Given the description of an element on the screen output the (x, y) to click on. 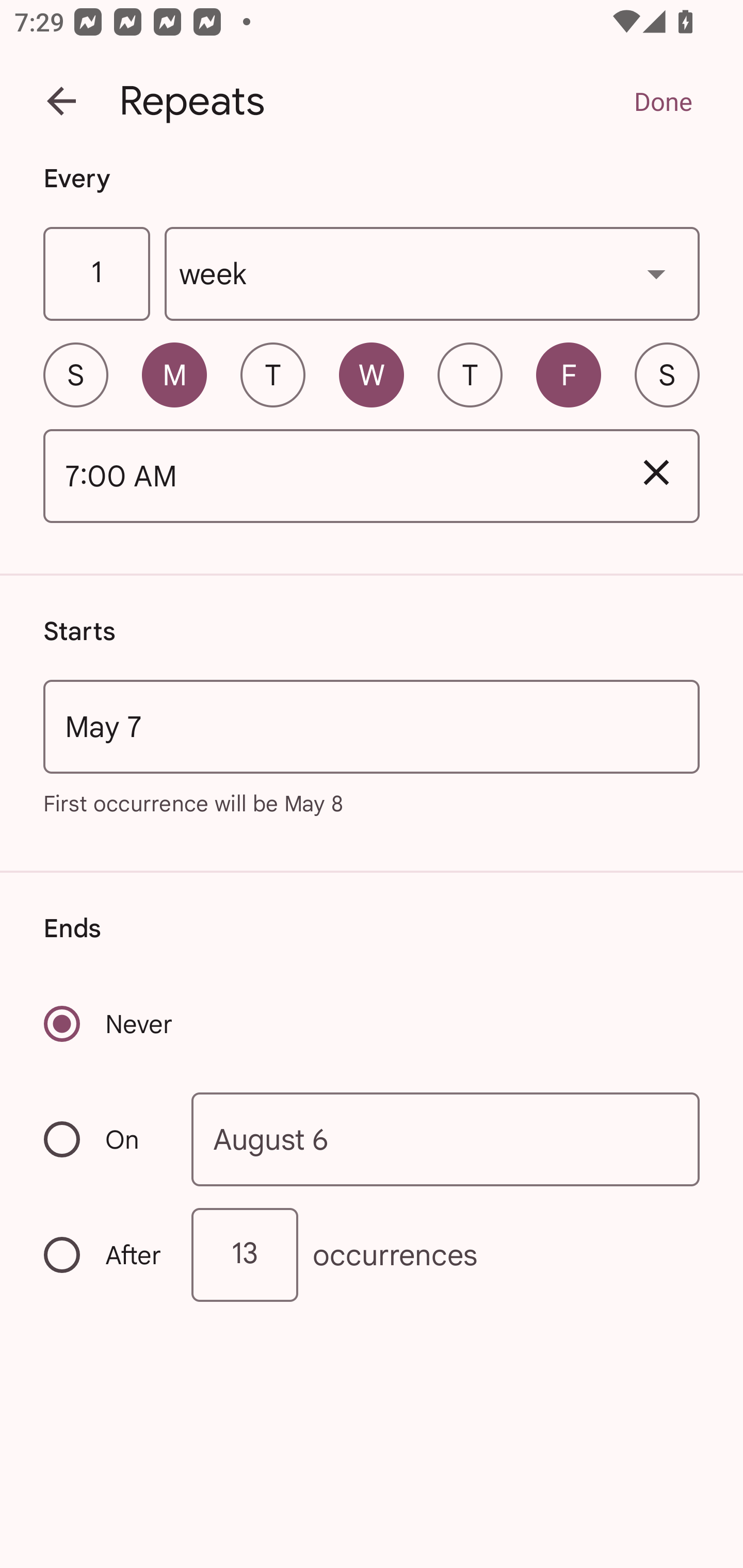
Back (61, 101)
Done (663, 101)
1 (96, 274)
week (431, 274)
Show dropdown menu (655, 273)
S Sunday (75, 374)
M Monday, selected (173, 374)
T Tuesday (272, 374)
W Wednesday, selected (371, 374)
T Thursday (469, 374)
F Friday, selected (568, 374)
S Saturday (666, 374)
7:00 AM (327, 476)
Remove 7:00 AM (655, 472)
May 7 (371, 726)
Never Recurrence never ends (109, 1023)
August 6 (445, 1139)
On Recurrence ends on a specific date (104, 1138)
13 (244, 1254)
